Given the description of an element on the screen output the (x, y) to click on. 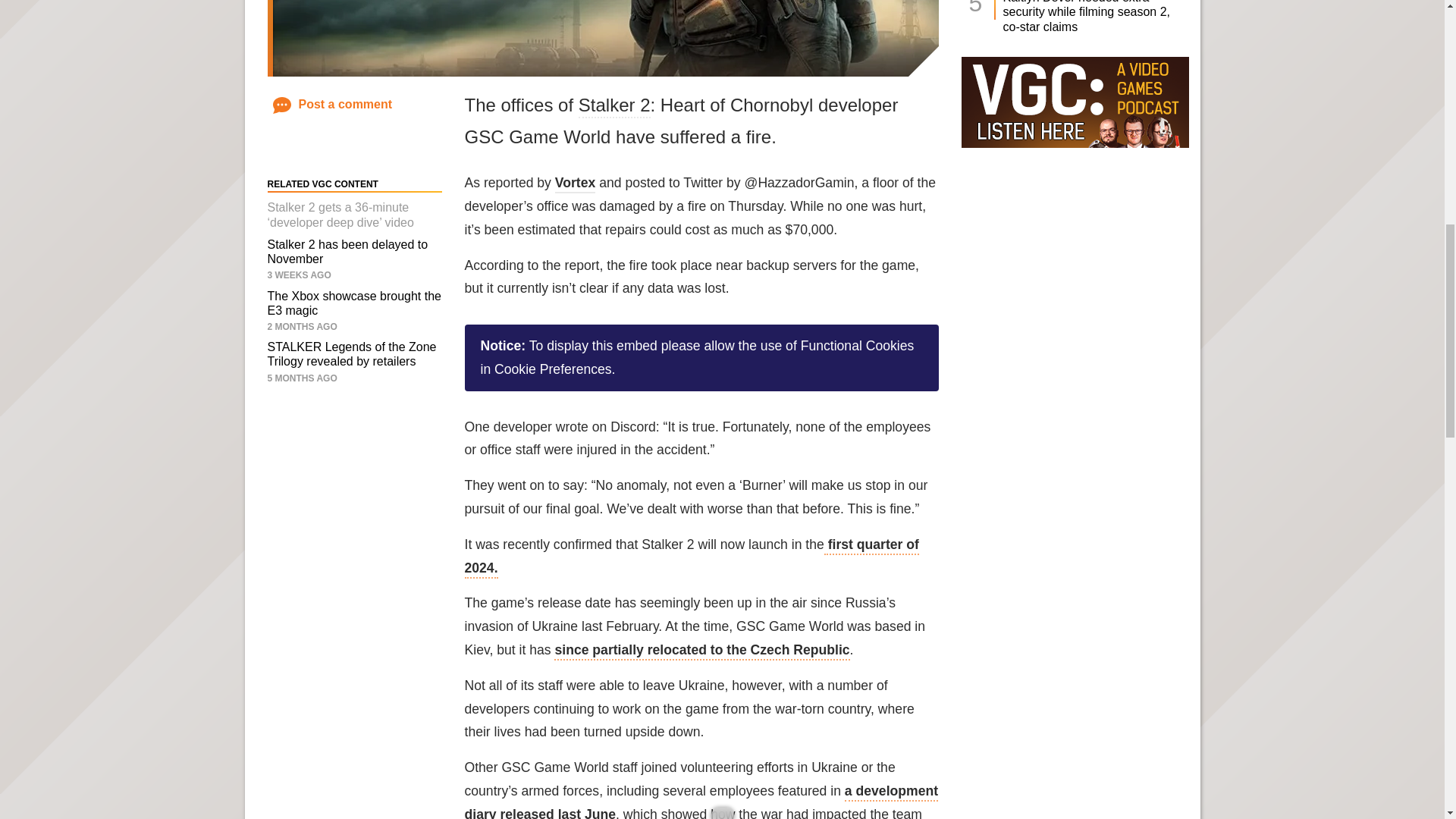
a development diary released last June (700, 800)
Post a comment (333, 103)
since partially relocated to the Czech Republic (701, 651)
Stalker 2 (614, 106)
Cookie Preferences (553, 368)
STALKER Legends of the Zone Trilogy revealed by retailers (350, 353)
Stalker 2 has been delayed to November (347, 251)
Vortex (574, 184)
first quarter of 2024. (691, 557)
The Xbox showcase brought the E3 magic (353, 302)
